Given the description of an element on the screen output the (x, y) to click on. 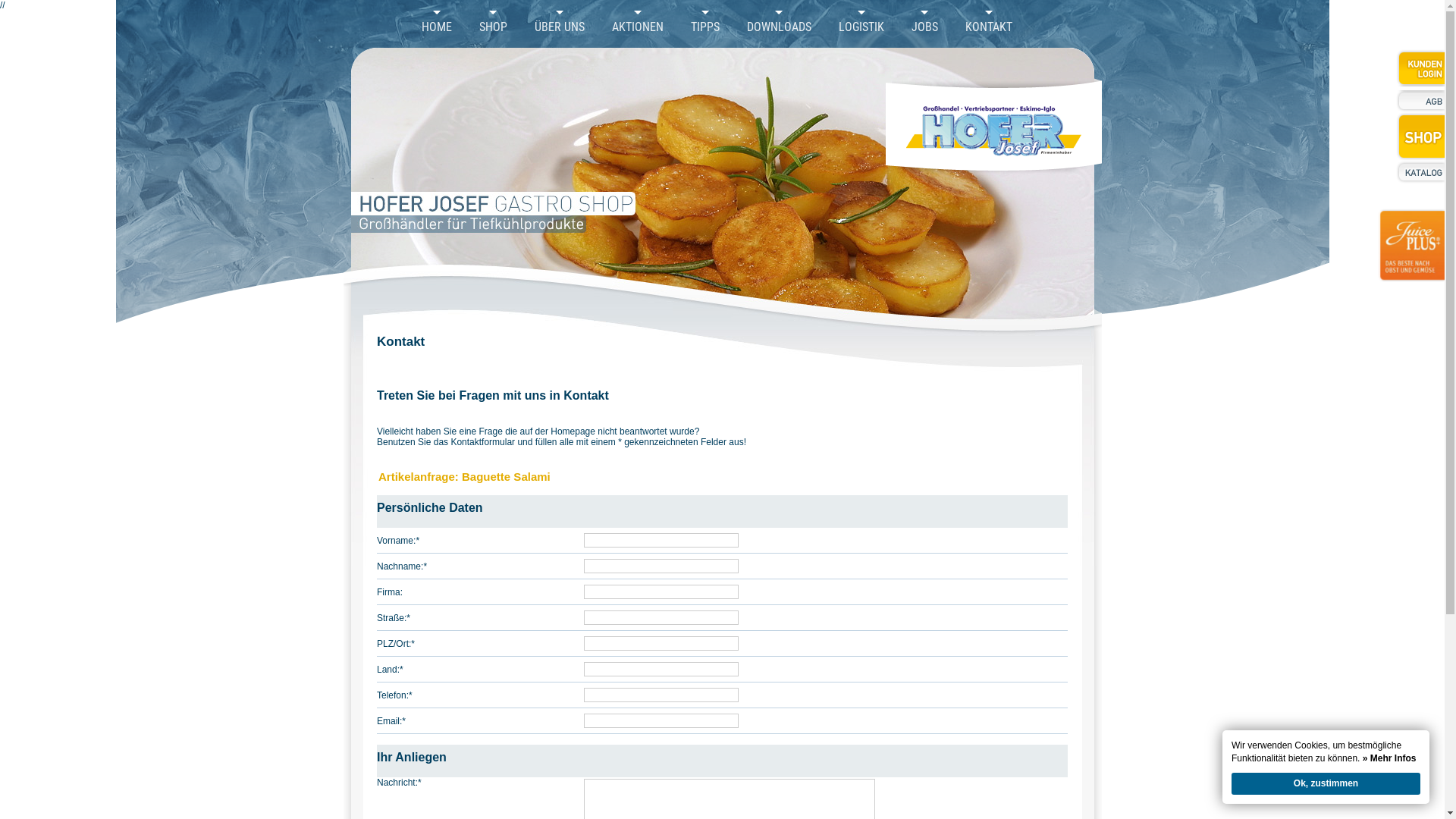
KONTAKT Element type: text (987, 27)
SHOP Element type: text (493, 27)
Juiceplus Element type: text (1410, 254)
Kundenlogin Element type: text (1420, 67)
AKTIONEN Element type: text (636, 27)
DOWNLOADS Element type: text (778, 27)
HOME Element type: text (436, 27)
Shop Element type: text (1420, 136)
LOGISTIK Element type: text (861, 27)
TIPPS Element type: text (704, 27)
JOBS Element type: text (924, 27)
AGB Element type: text (1420, 101)
Katalog Element type: text (1420, 171)
Ok, zustimmen Element type: text (1325, 783)
